Given the description of an element on the screen output the (x, y) to click on. 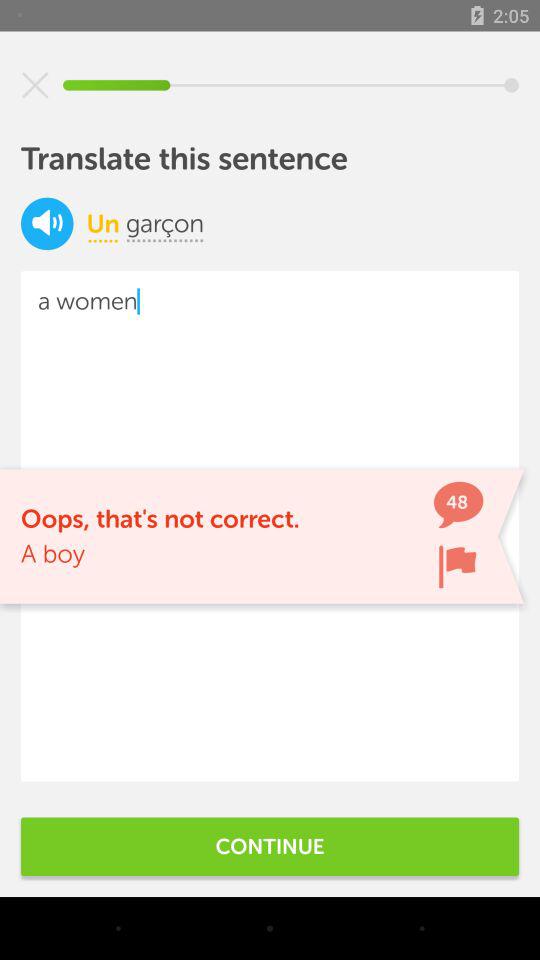
turn on the icon below translate this sentence (102, 223)
